Given the description of an element on the screen output the (x, y) to click on. 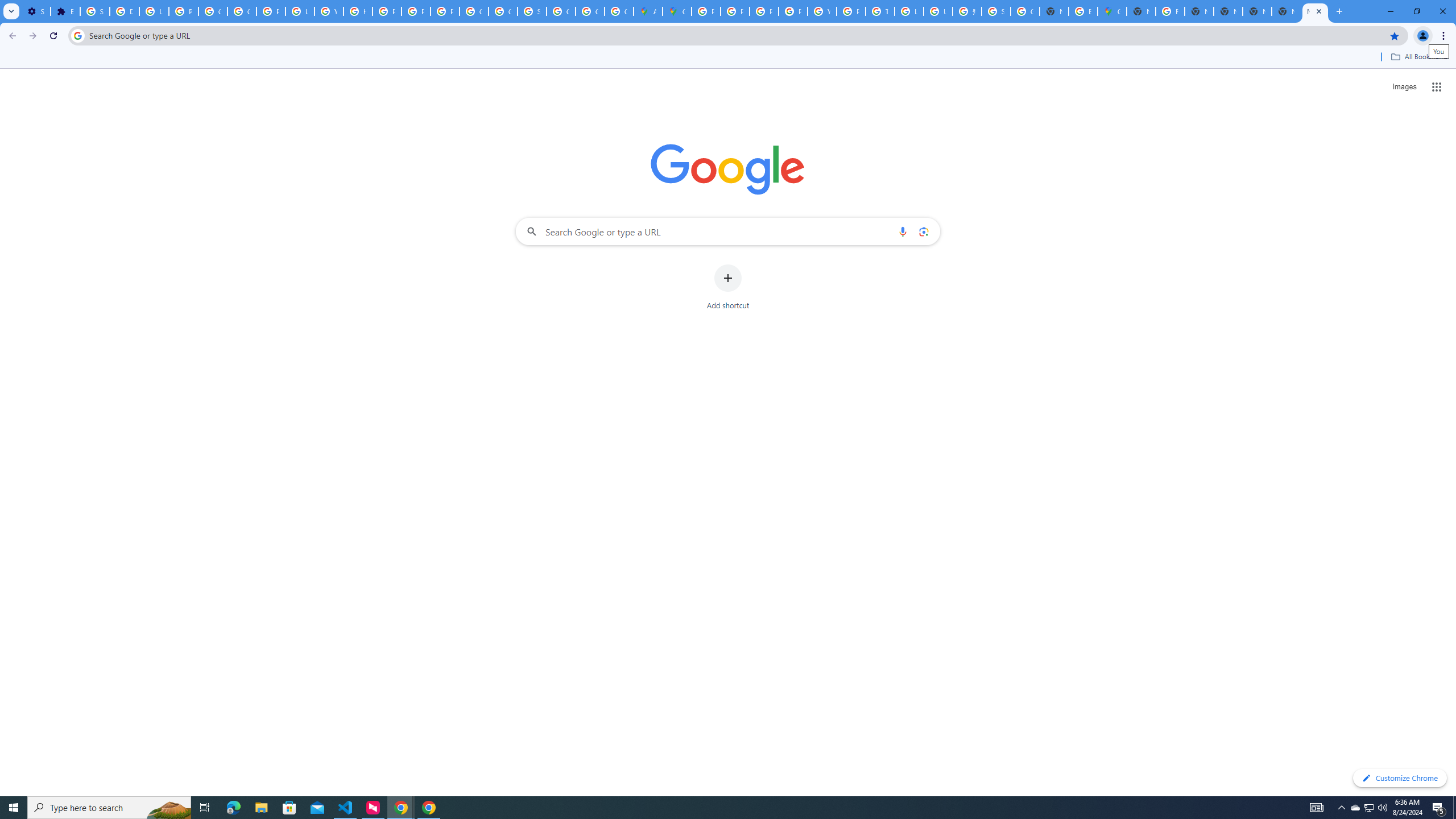
Google Maps (1111, 11)
Create your Google Account (619, 11)
New Tab (1315, 11)
Delete photos & videos - Computer - Google Photos Help (124, 11)
Policy Accountability and Transparency - Transparency Center (705, 11)
